Given the description of an element on the screen output the (x, y) to click on. 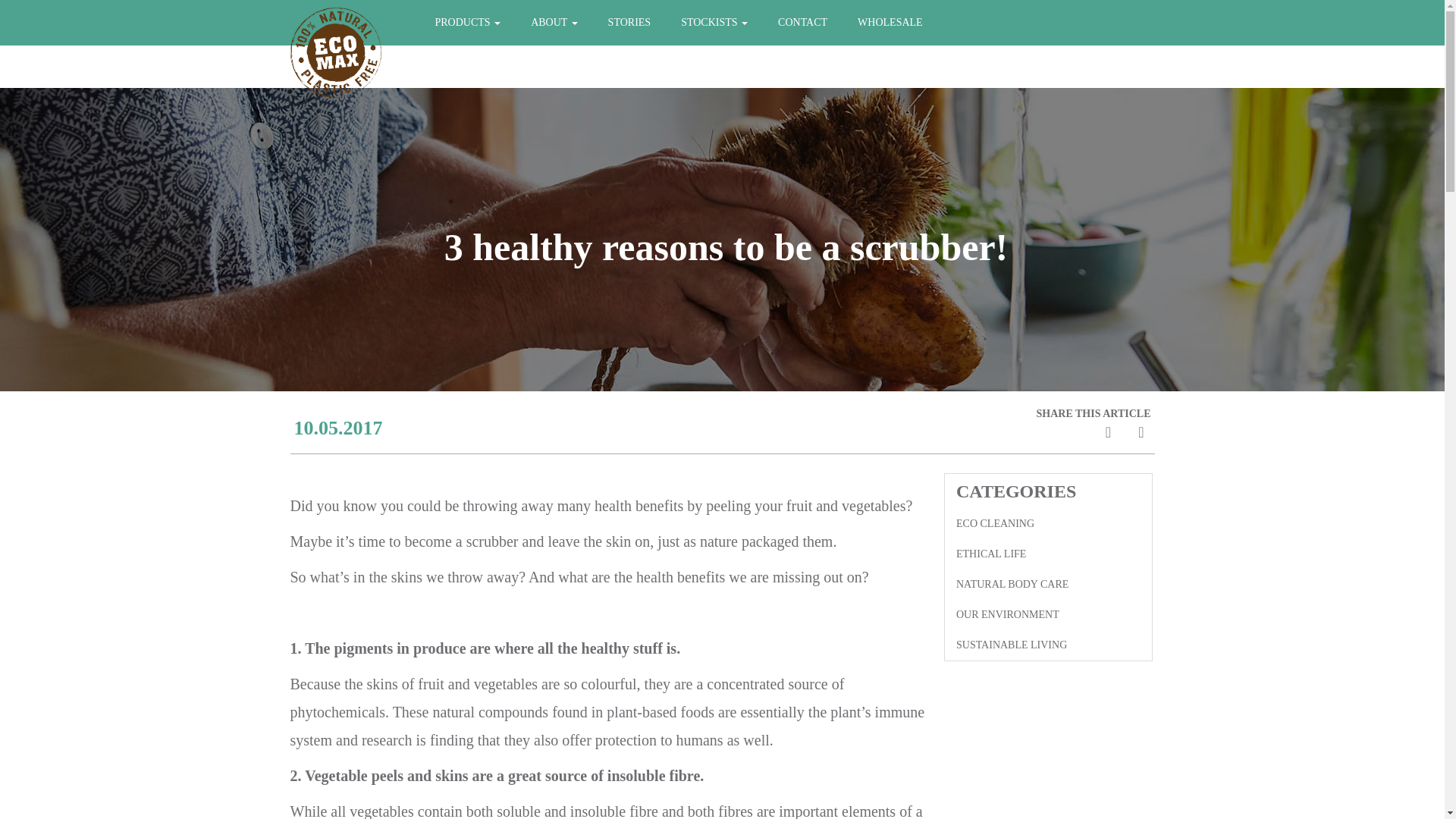
OUR ENVIRONMENT (1047, 614)
WHOLESALE (890, 22)
SUSTAINABLE LIVING (1047, 644)
NATURAL BODY CARE (1047, 584)
ABOUT (553, 22)
PRODUCTS (468, 22)
STORIES (629, 22)
STOCKISTS (713, 22)
Facebook share (1108, 430)
ETHICAL LIFE (1047, 553)
